Given the description of an element on the screen output the (x, y) to click on. 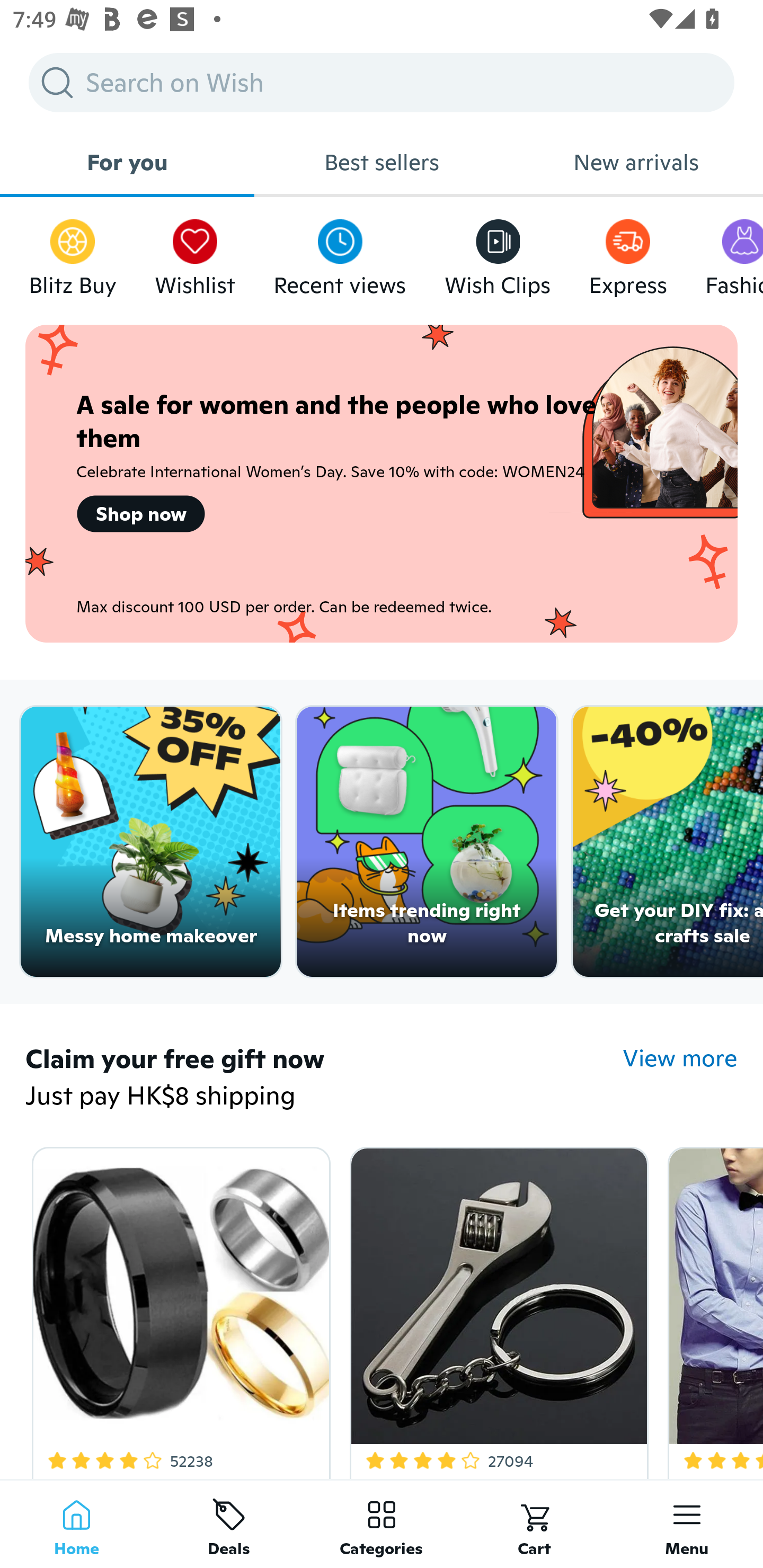
Search on Wish (381, 82)
For you (127, 161)
Best sellers (381, 161)
New arrivals (635, 161)
Blitz Buy (72, 252)
Wishlist (194, 252)
Recent views (339, 252)
Wish Clips (497, 252)
Express (627, 252)
Fashion (734, 252)
Messy home makeover (150, 841)
Items trending right now (426, 841)
Get your DIY fix: arts & crafts sale (668, 841)
Claim your free gift now
Just pay HK$8 shipping (323, 1078)
View more (679, 1058)
4.2 Star Rating 52238 Free (177, 1308)
4 Star Rating 27094 Free (495, 1308)
Home (76, 1523)
Deals (228, 1523)
Categories (381, 1523)
Cart (533, 1523)
Menu (686, 1523)
